Given the description of an element on the screen output the (x, y) to click on. 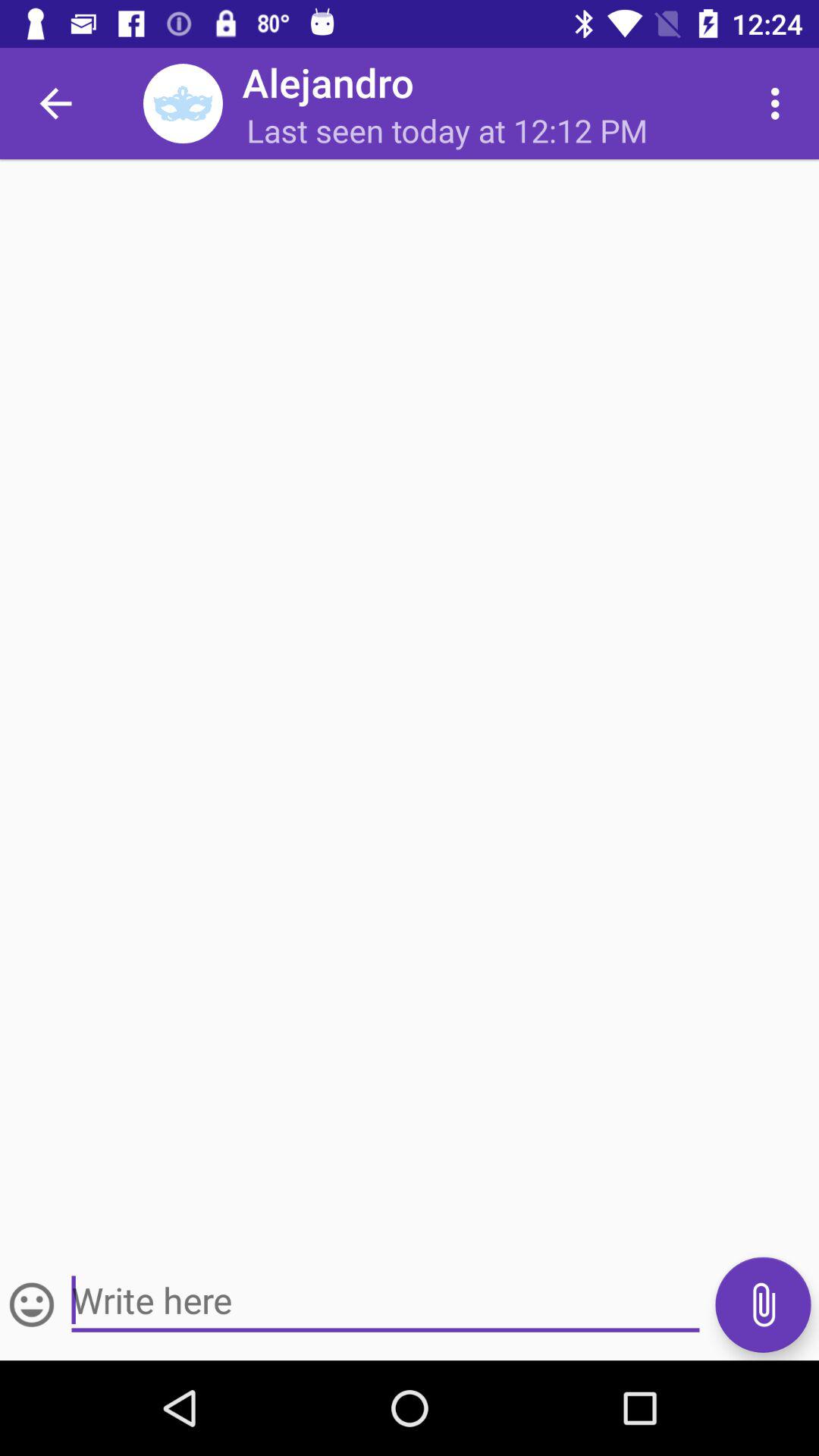
input text (385, 1300)
